Given the description of an element on the screen output the (x, y) to click on. 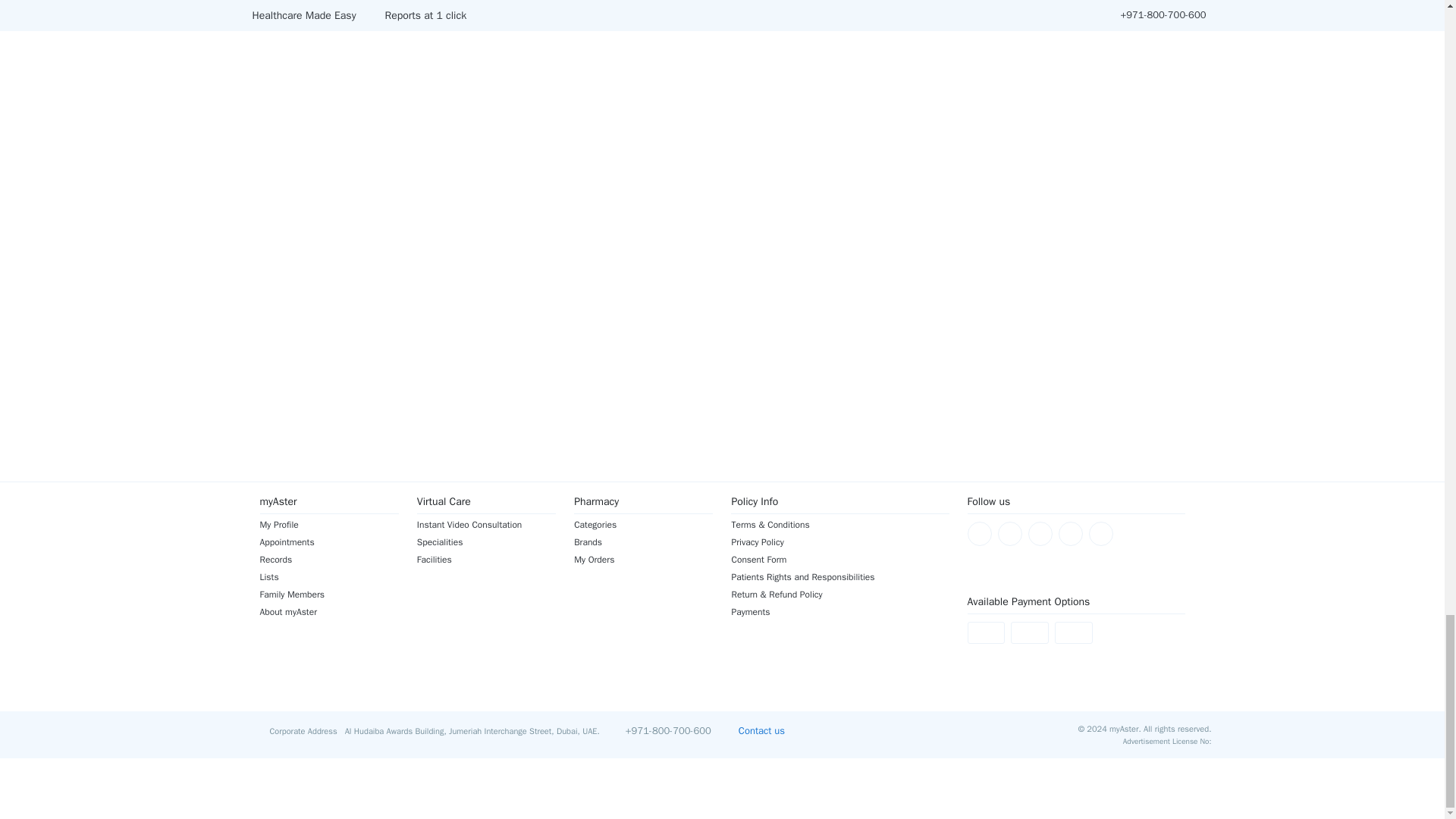
Patients Rights and Responsibilities (839, 576)
Payments (839, 612)
Specialities (486, 541)
Privacy Policy (839, 541)
Records (328, 559)
My Profile (328, 524)
Brands (643, 541)
My Orders (643, 559)
Appointments (328, 541)
About myAster (328, 612)
